Given the description of an element on the screen output the (x, y) to click on. 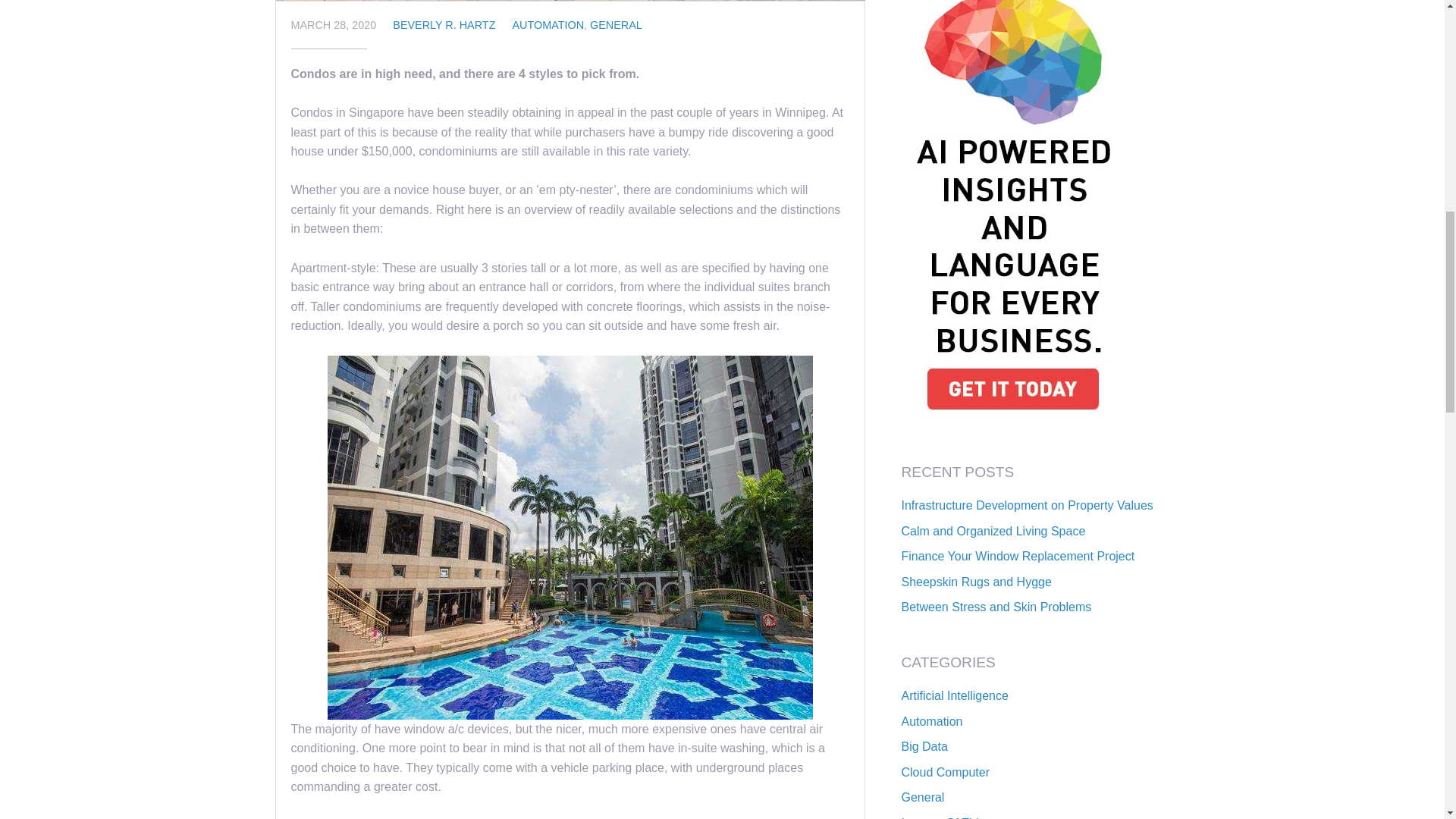
GENERAL (615, 24)
BEVERLY R. HARTZ (444, 24)
AUTOMATION (547, 24)
View all posts by Beverly R. Hartz (444, 24)
Infrastructure Development on Property Values (1027, 504)
Calm and Organized Living Space (992, 530)
